Given the description of an element on the screen output the (x, y) to click on. 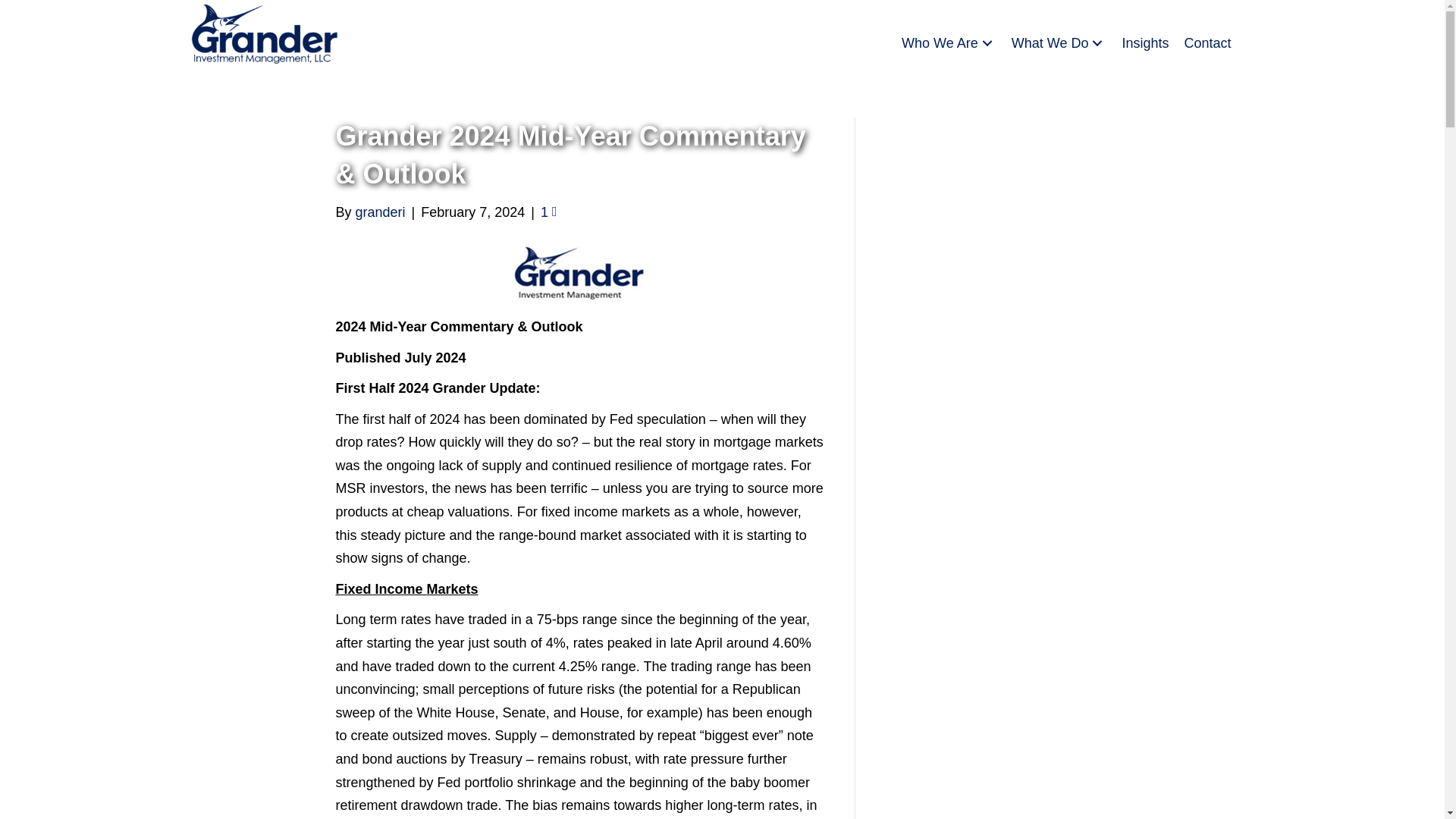
Insights (1144, 43)
Who We Are (948, 43)
1 (548, 212)
Contact (1207, 43)
What We Do (1059, 43)
granderi (380, 212)
